Given the description of an element on the screen output the (x, y) to click on. 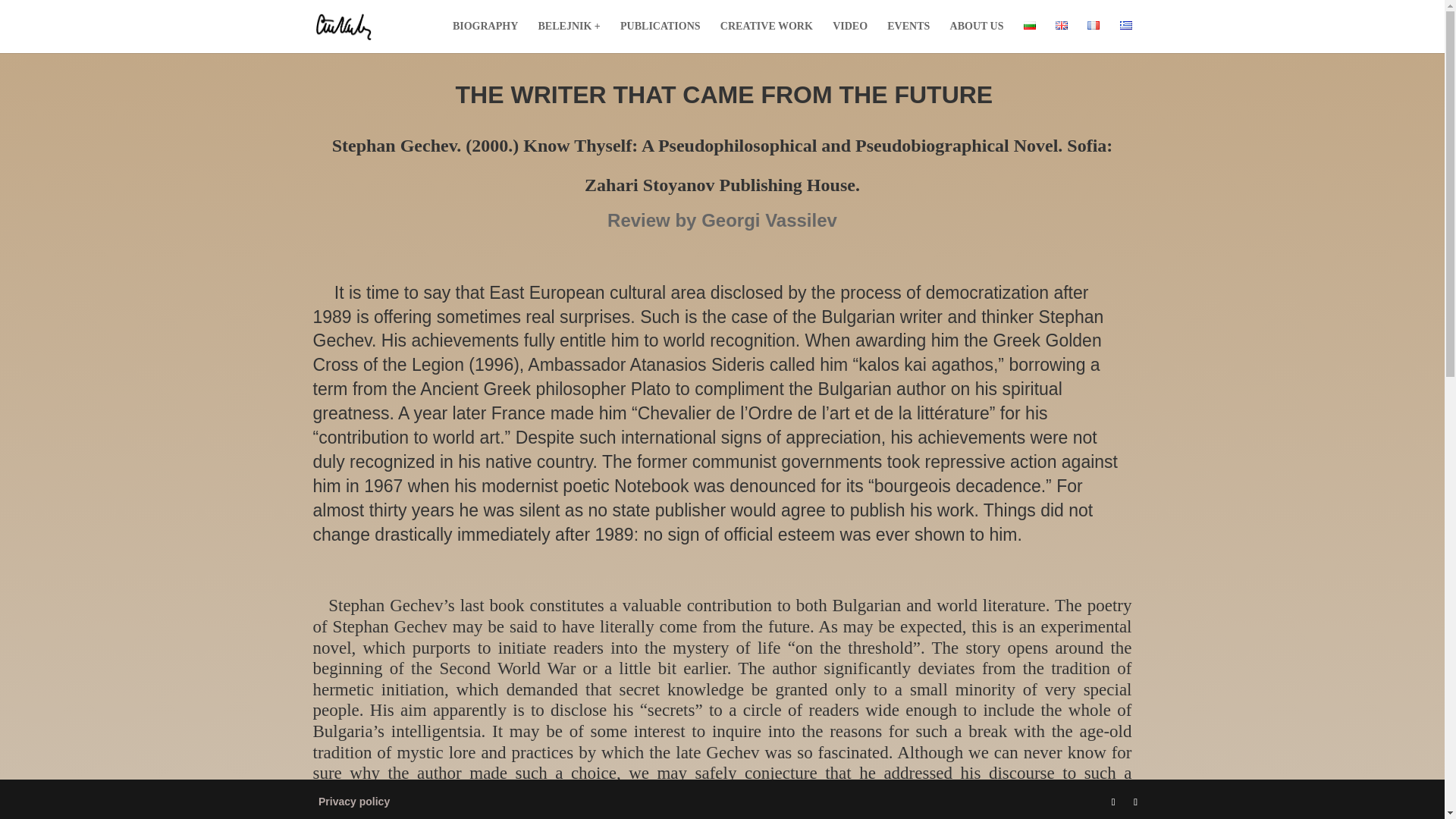
PUBLICATIONS (660, 37)
BIOGRAPHY (485, 37)
ABOUT US (977, 37)
Privacy policy (354, 801)
EVENTS (908, 37)
CREATIVE WORK (766, 37)
VIDEO (849, 37)
